Given the description of an element on the screen output the (x, y) to click on. 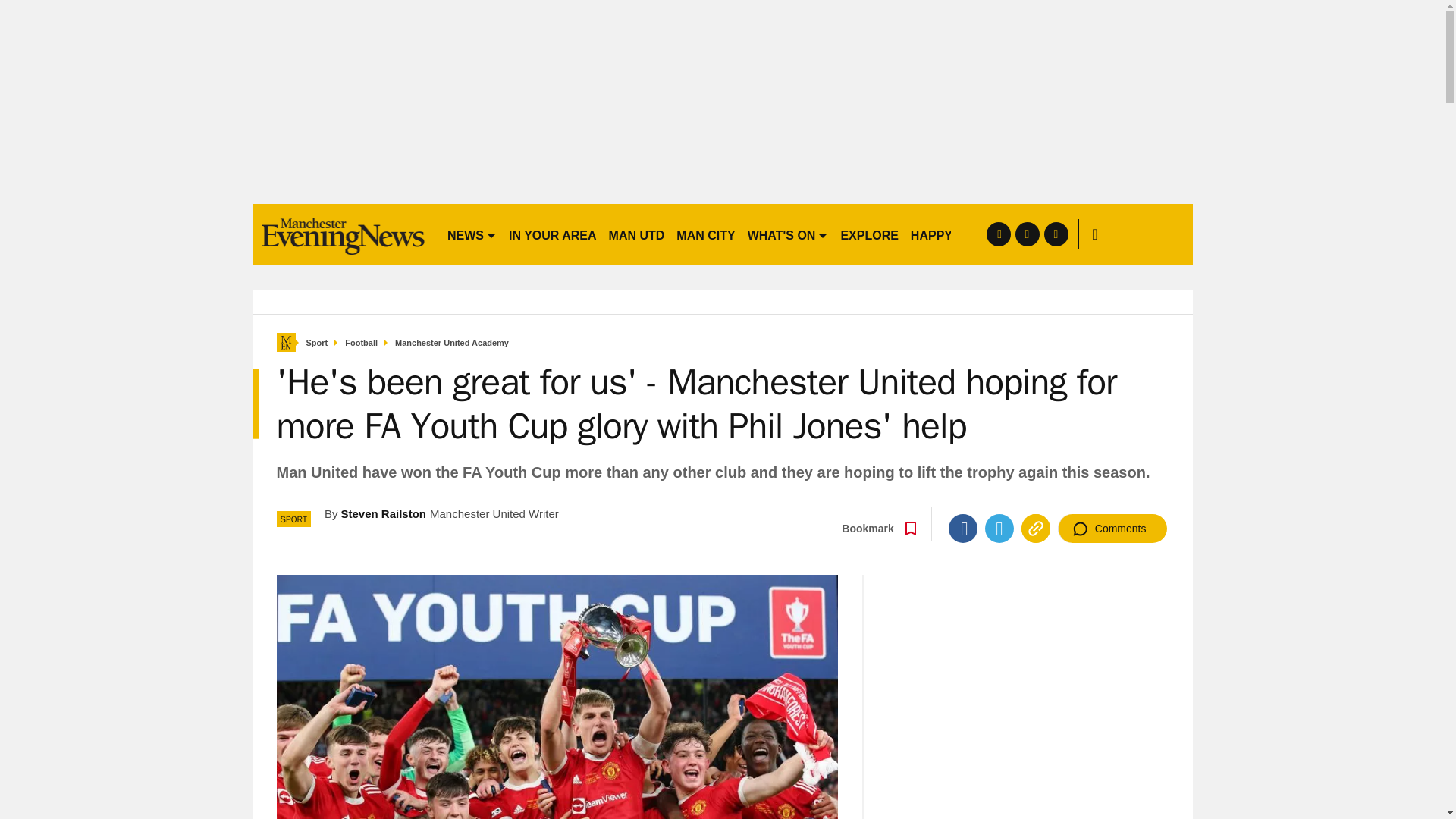
Facebook (962, 528)
MAN UTD (636, 233)
Comments (1112, 528)
Twitter (999, 528)
WHAT'S ON (787, 233)
twitter (1026, 233)
instagram (1055, 233)
facebook (997, 233)
NEWS (471, 233)
IN YOUR AREA (552, 233)
